Given the description of an element on the screen output the (x, y) to click on. 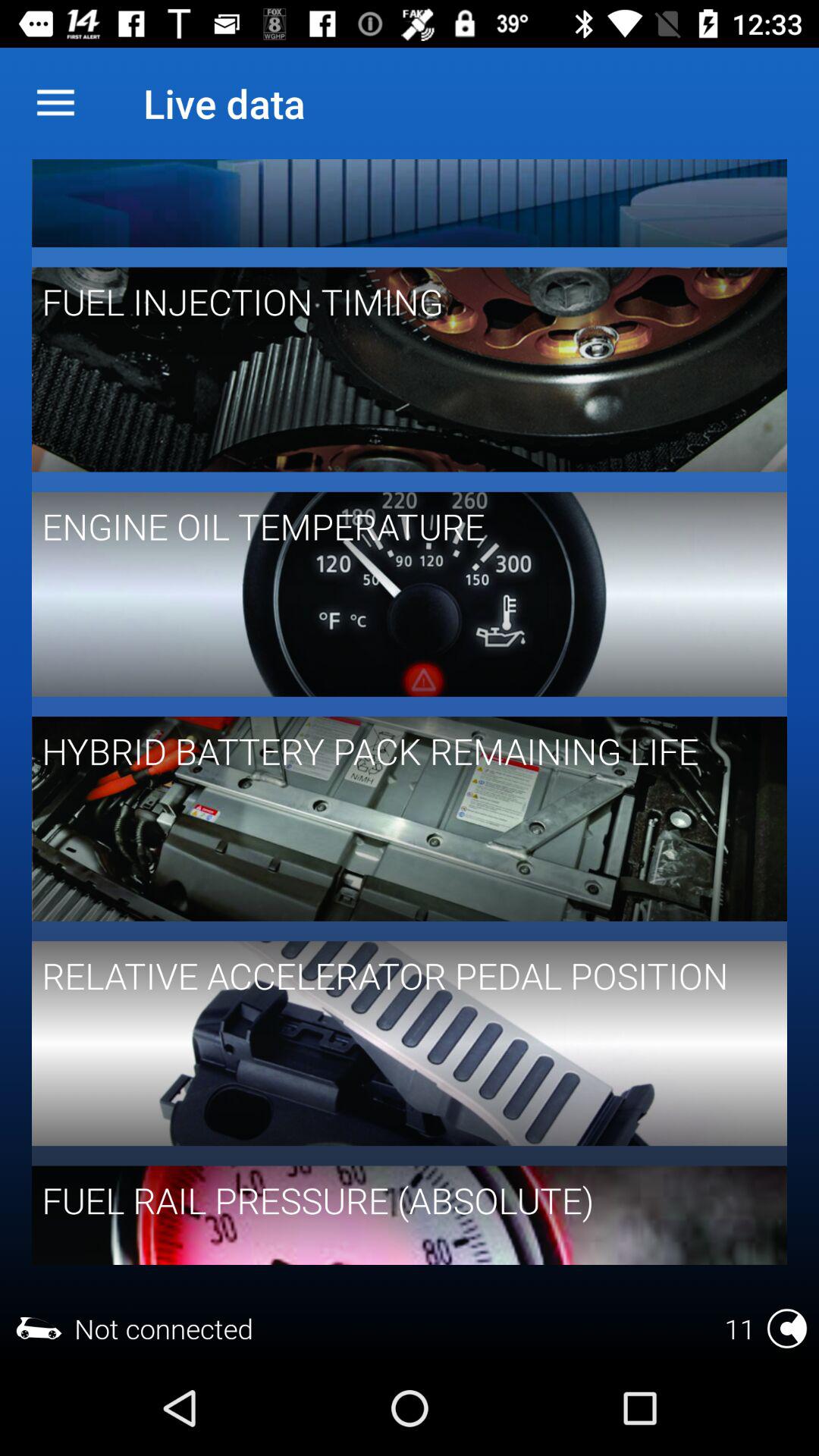
turn off the icon next to the live data (55, 103)
